Given the description of an element on the screen output the (x, y) to click on. 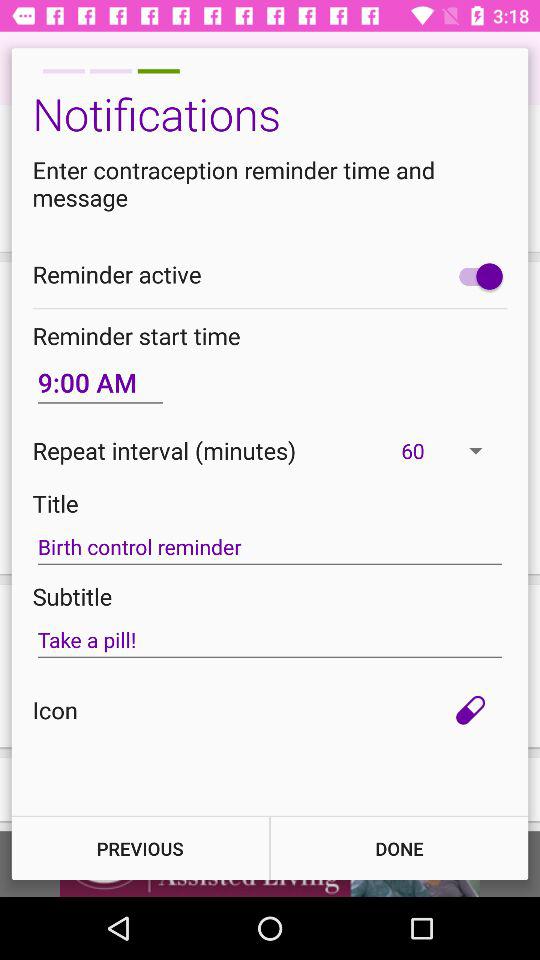
turn off the icon below the reminder start time item (100, 382)
